Given the description of an element on the screen output the (x, y) to click on. 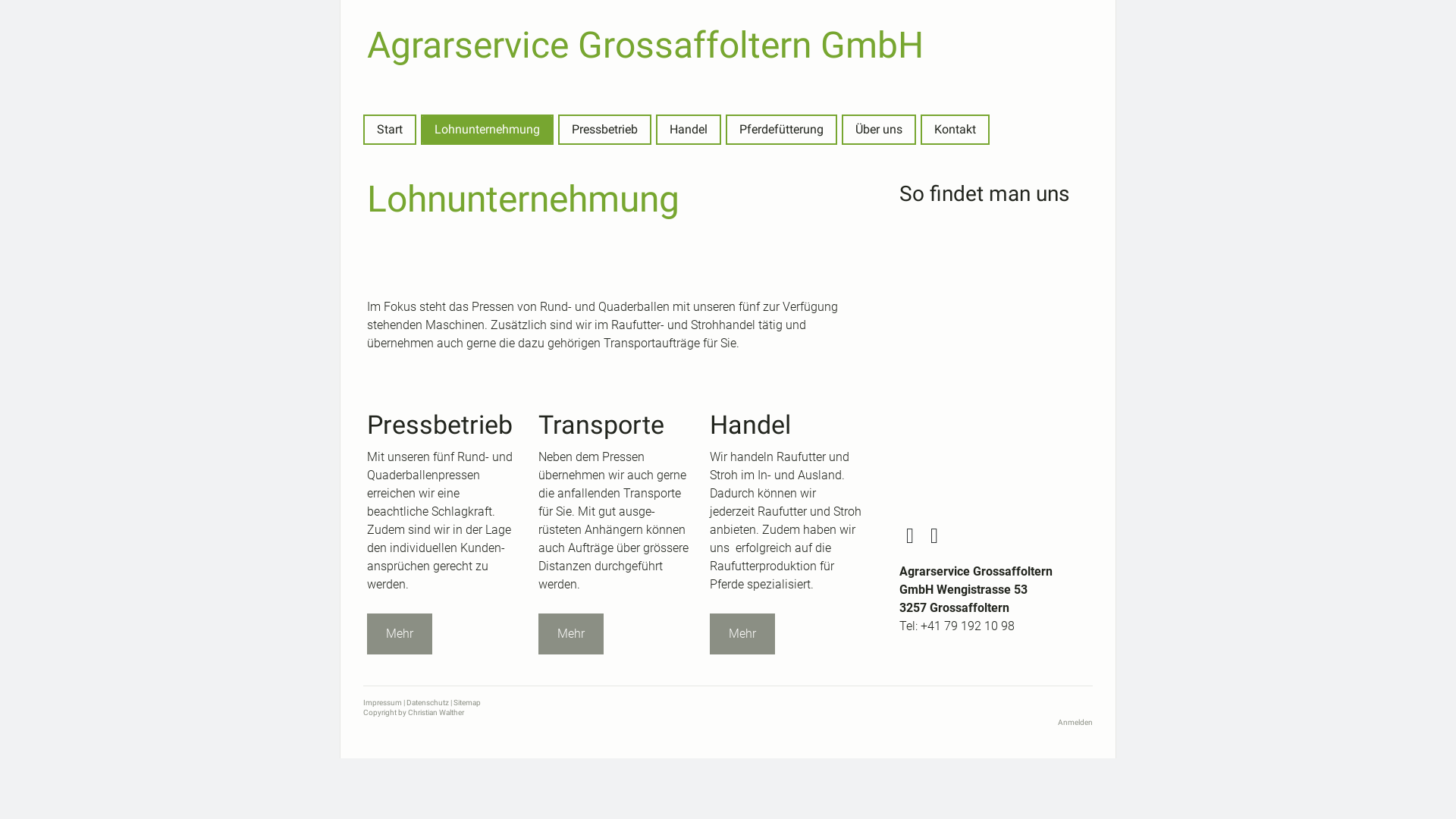
Mehr Element type: text (742, 633)
Lohnunternehmung Element type: text (487, 129)
Facebook Element type: hover (909, 535)
Mehr Element type: text (570, 633)
Mehr Element type: text (399, 633)
Pressbetrieb Element type: text (604, 129)
Kontakt Element type: text (955, 129)
Anmelden Element type: text (1074, 722)
E-Mail Element type: hover (933, 535)
Handel Element type: text (688, 129)
Start Element type: text (389, 129)
Sitemap Element type: text (466, 702)
Impressum Element type: text (382, 702)
Datenschutz Element type: text (427, 702)
Agrarservice Grossaffoltern GmbH Element type: text (727, 45)
